Given the description of an element on the screen output the (x, y) to click on. 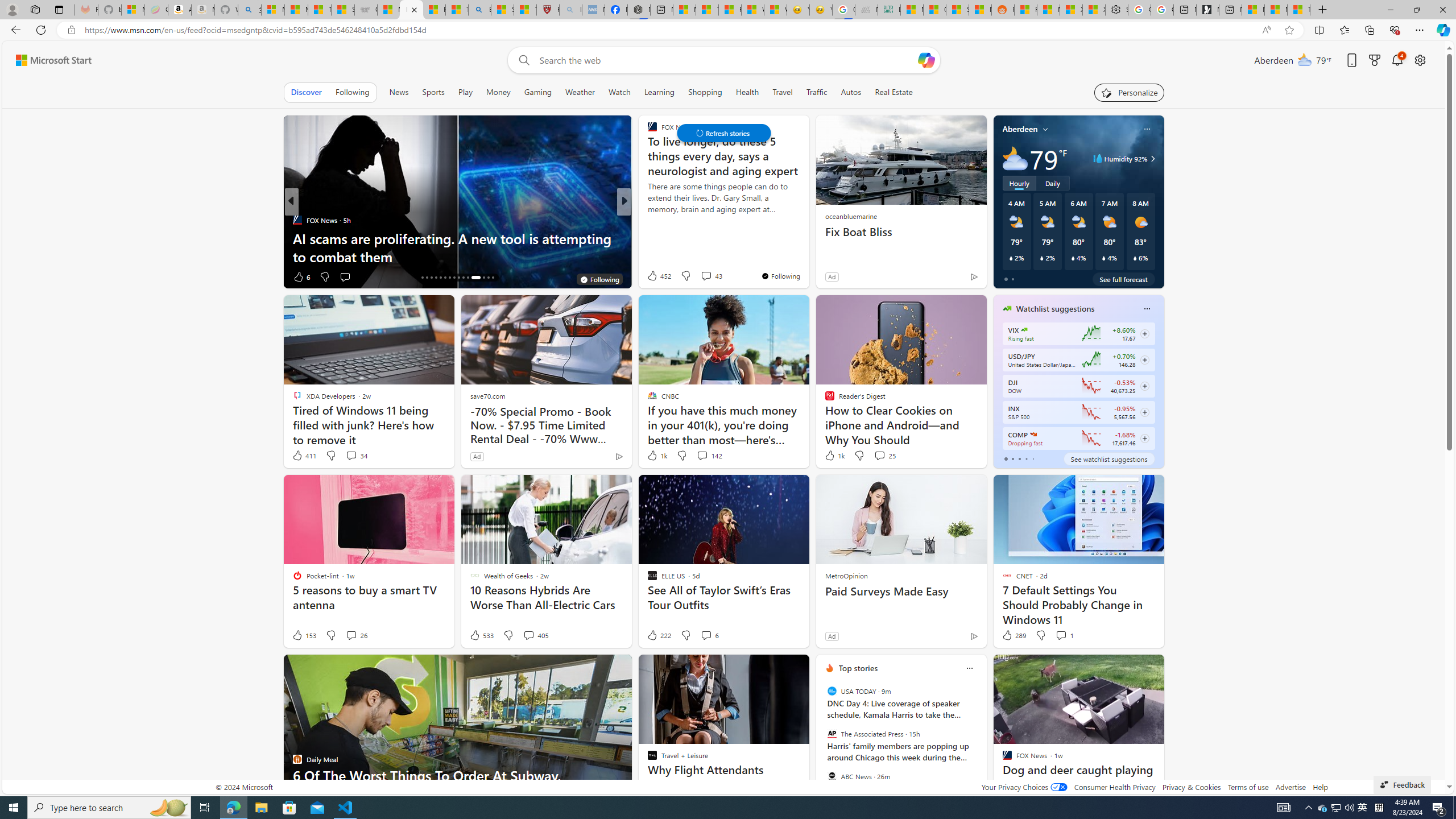
View comments 43 Comment (705, 275)
Watchlist suggestions (1055, 308)
View comments 405 Comment (535, 634)
ABC News (832, 775)
